Given the description of an element on the screen output the (x, y) to click on. 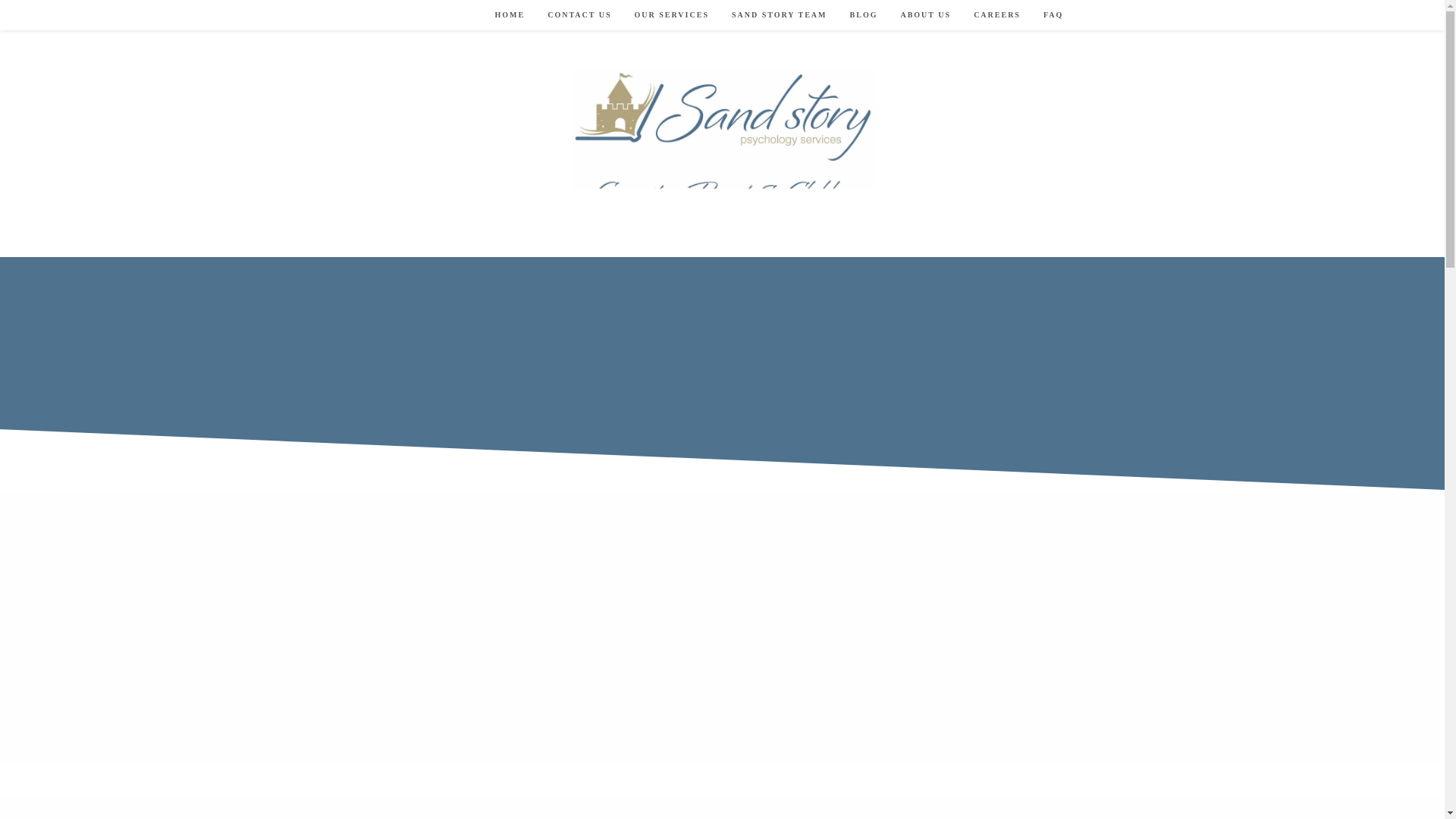
CONTACT US (579, 15)
ABOUT US (925, 15)
FAQ (1053, 15)
OUR SERVICES (671, 15)
HOME (510, 15)
BLOG (863, 15)
CAREERS (997, 15)
SAND STORY TEAM (779, 15)
